Given the description of an element on the screen output the (x, y) to click on. 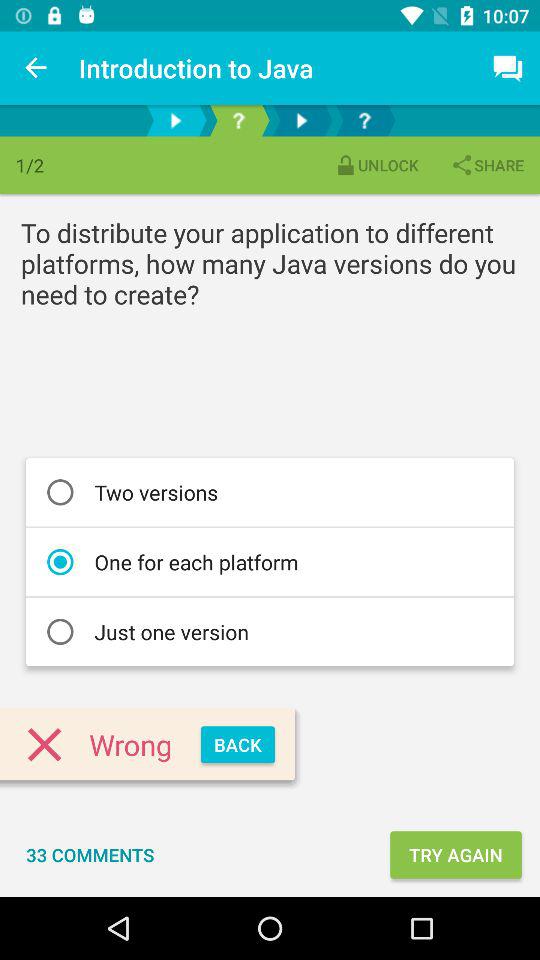
press the item to the left of try again item (90, 854)
